Given the description of an element on the screen output the (x, y) to click on. 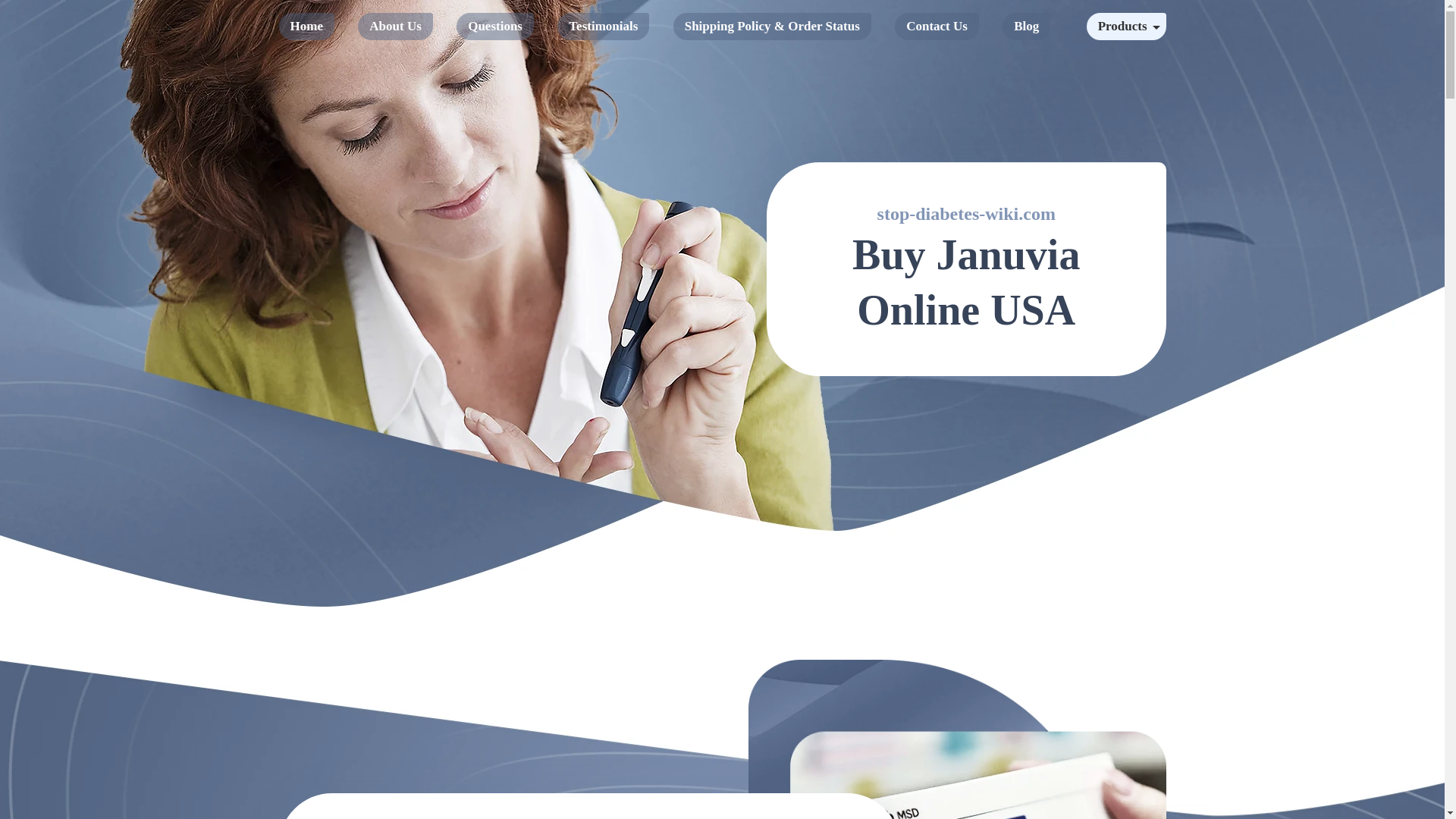
stop-diabetes-wiki.com (966, 213)
Home (306, 26)
About Us (395, 26)
Blog (1026, 26)
Testimonials (603, 26)
Questions (495, 26)
Contact Us (936, 26)
